Given the description of an element on the screen output the (x, y) to click on. 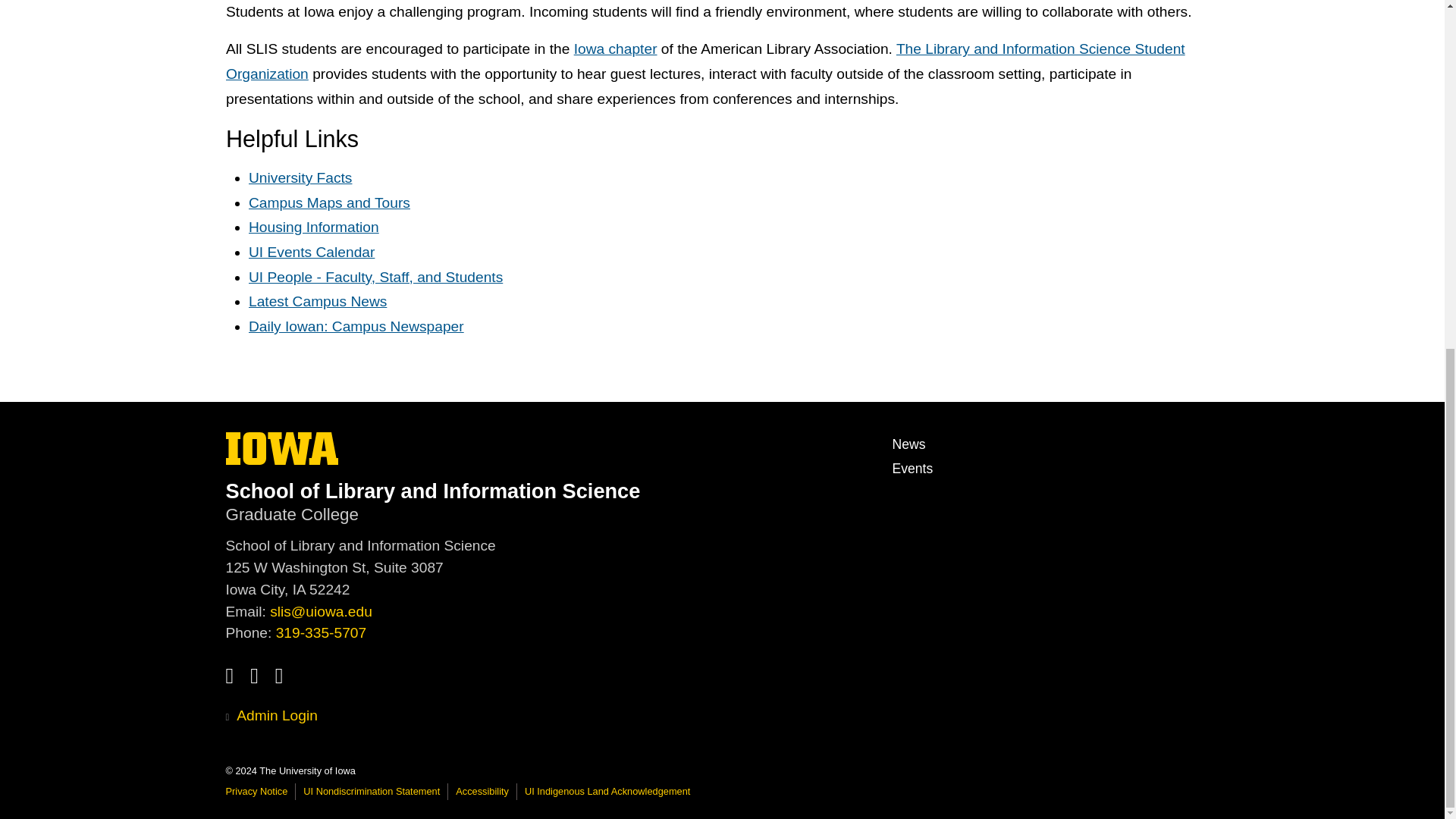
Campus Maps and Tours (329, 202)
University of Iowa (282, 448)
University Facts (300, 177)
News (907, 444)
UI People - Faculty, Staff, and Students (375, 277)
Housing Information (313, 227)
UI Events Calendar (311, 252)
Daily Iowan: Campus Newspaper (282, 460)
Latest Campus News (356, 326)
Events (317, 302)
UI Events Calendqar (912, 468)
LISSO (311, 252)
The Library and Information Science Student Organization (705, 61)
Iowa chapter (705, 61)
